Given the description of an element on the screen output the (x, y) to click on. 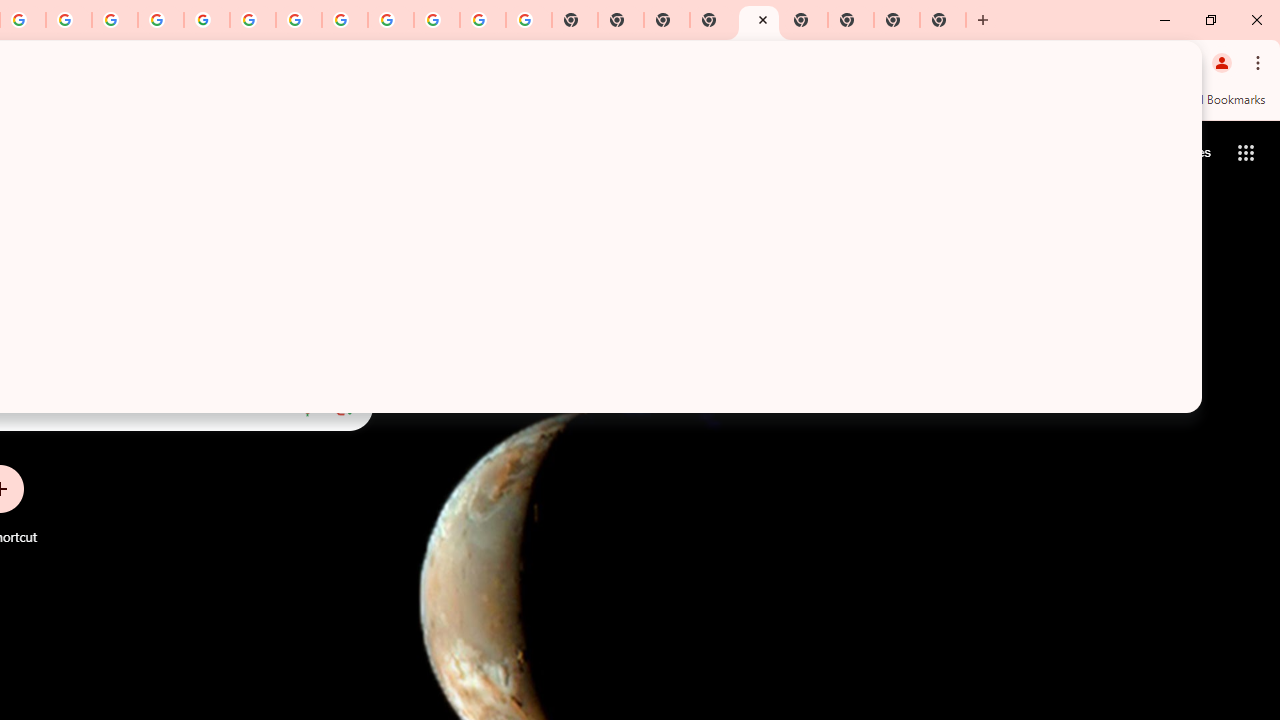
YouTube (253, 20)
Google Images (528, 20)
Privacy Help Center - Policies Help (69, 20)
